Given the description of an element on the screen output the (x, y) to click on. 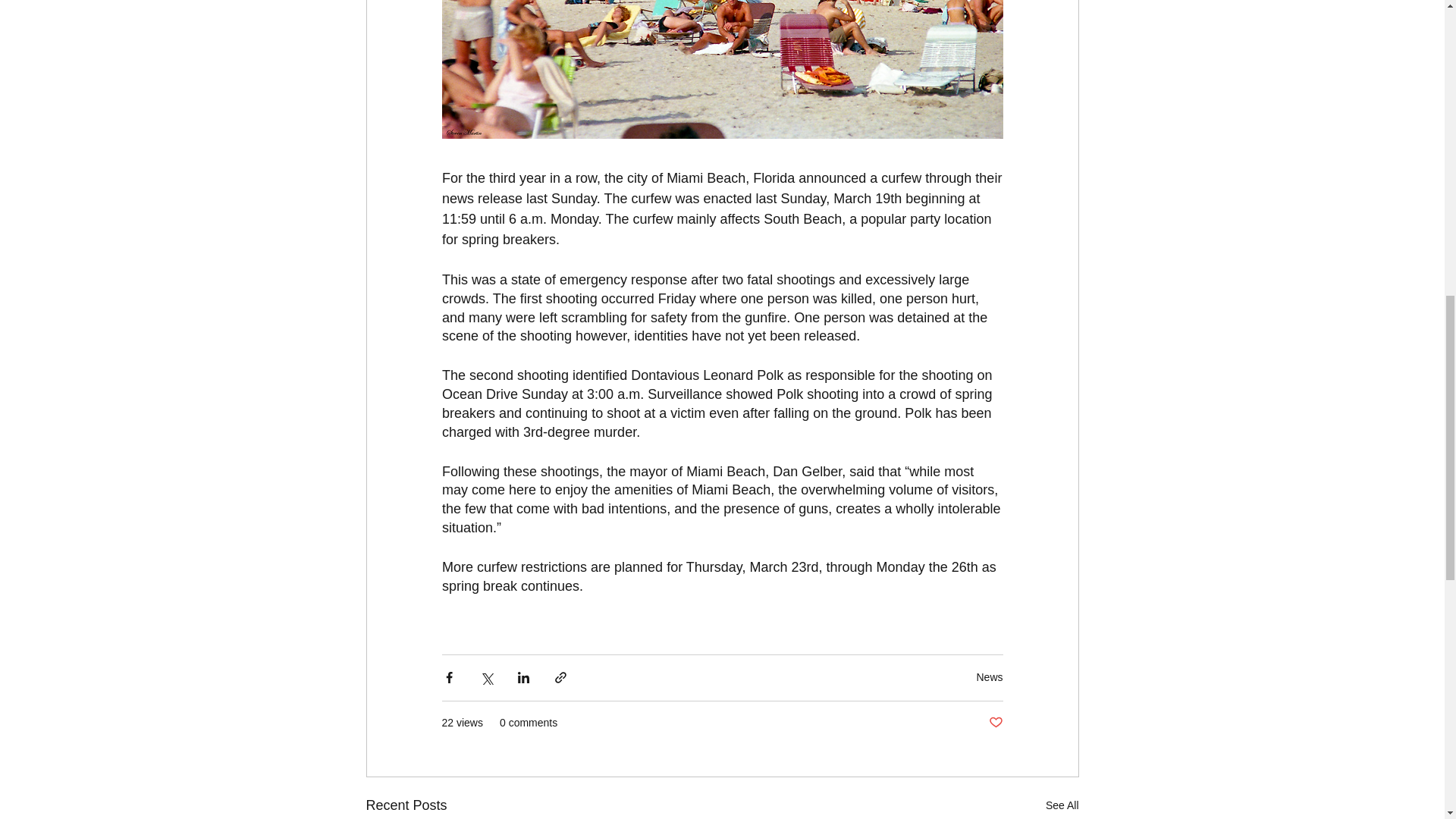
See All (1061, 805)
Post not marked as liked (995, 722)
News (989, 676)
